Given the description of an element on the screen output the (x, y) to click on. 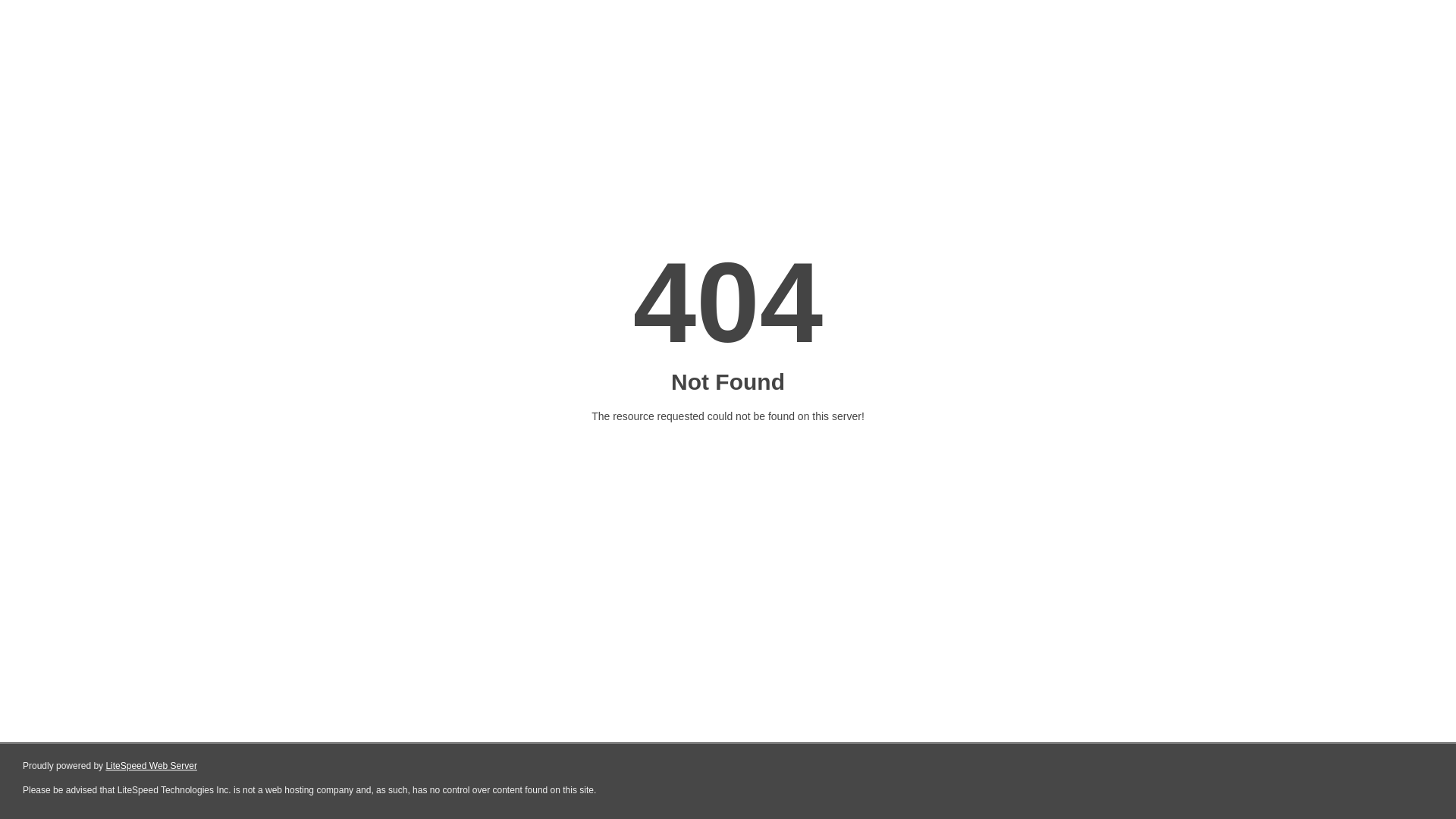
LiteSpeed Web Server Element type: text (151, 765)
